Given the description of an element on the screen output the (x, y) to click on. 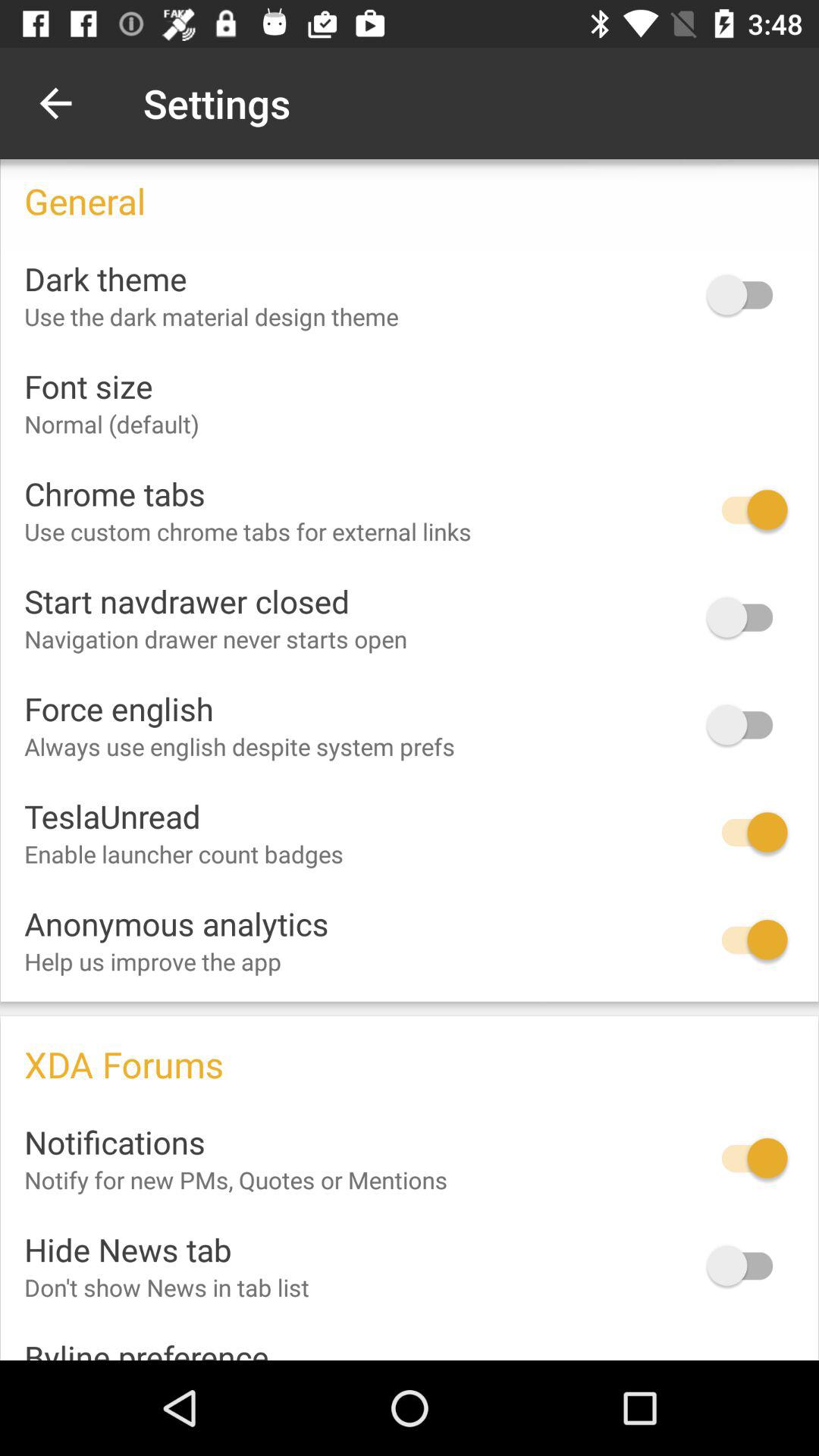
hit dark theme toggle (747, 294)
